Given the description of an element on the screen output the (x, y) to click on. 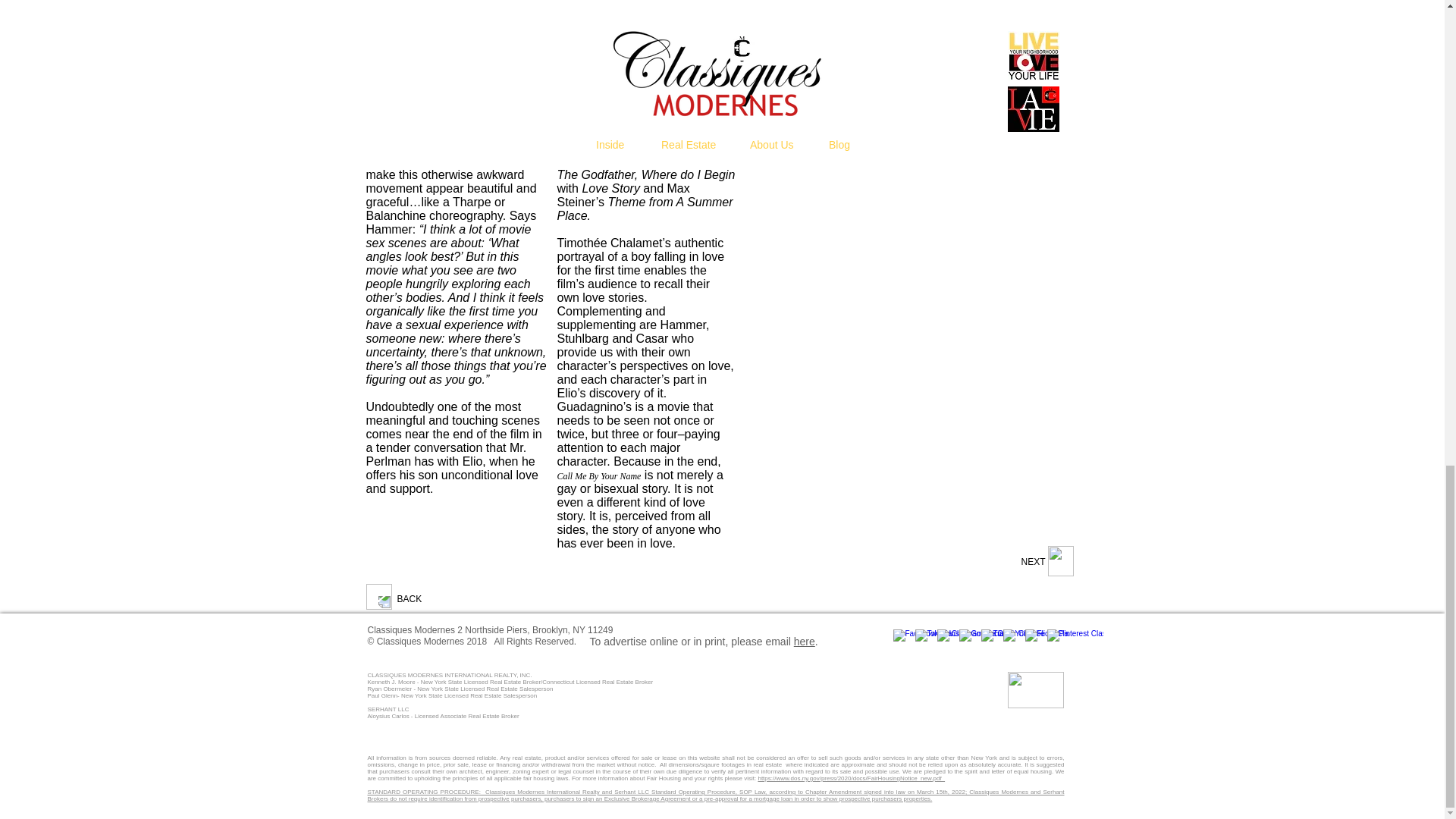
here (804, 641)
